Given the description of an element on the screen output the (x, y) to click on. 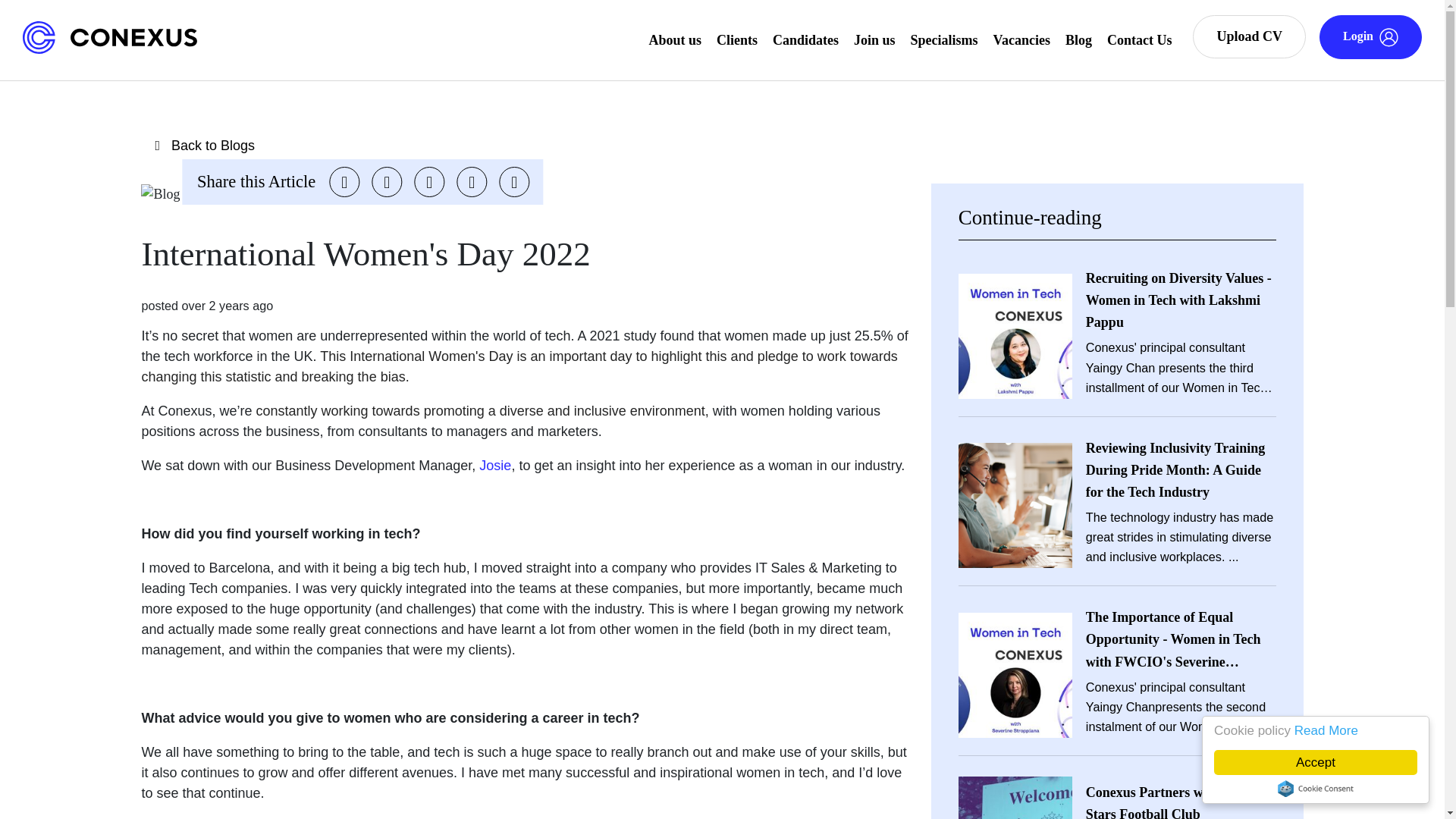
Tweet this (344, 182)
share on Facebook (386, 182)
Clients (736, 39)
Contact Us (1139, 39)
Upload CV (1249, 36)
send in Whatsapp (514, 182)
Accept (1329, 762)
Specialisms (944, 39)
Candidates (805, 39)
Back to Blogs (523, 145)
Josie (495, 465)
share on LinkedIn (428, 182)
